Given the description of an element on the screen output the (x, y) to click on. 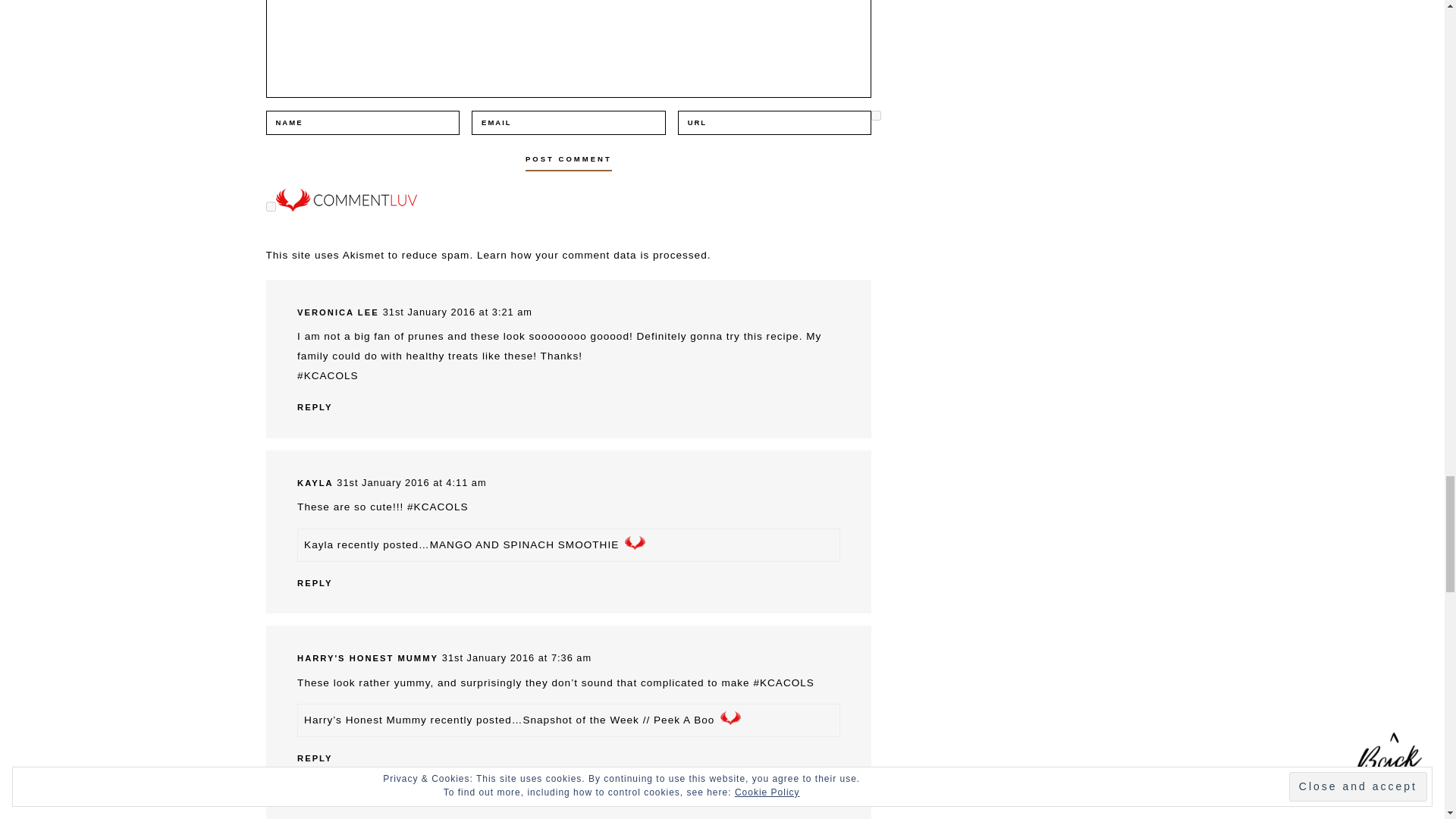
on (269, 206)
1 (875, 115)
Post Comment (568, 159)
